Given the description of an element on the screen output the (x, y) to click on. 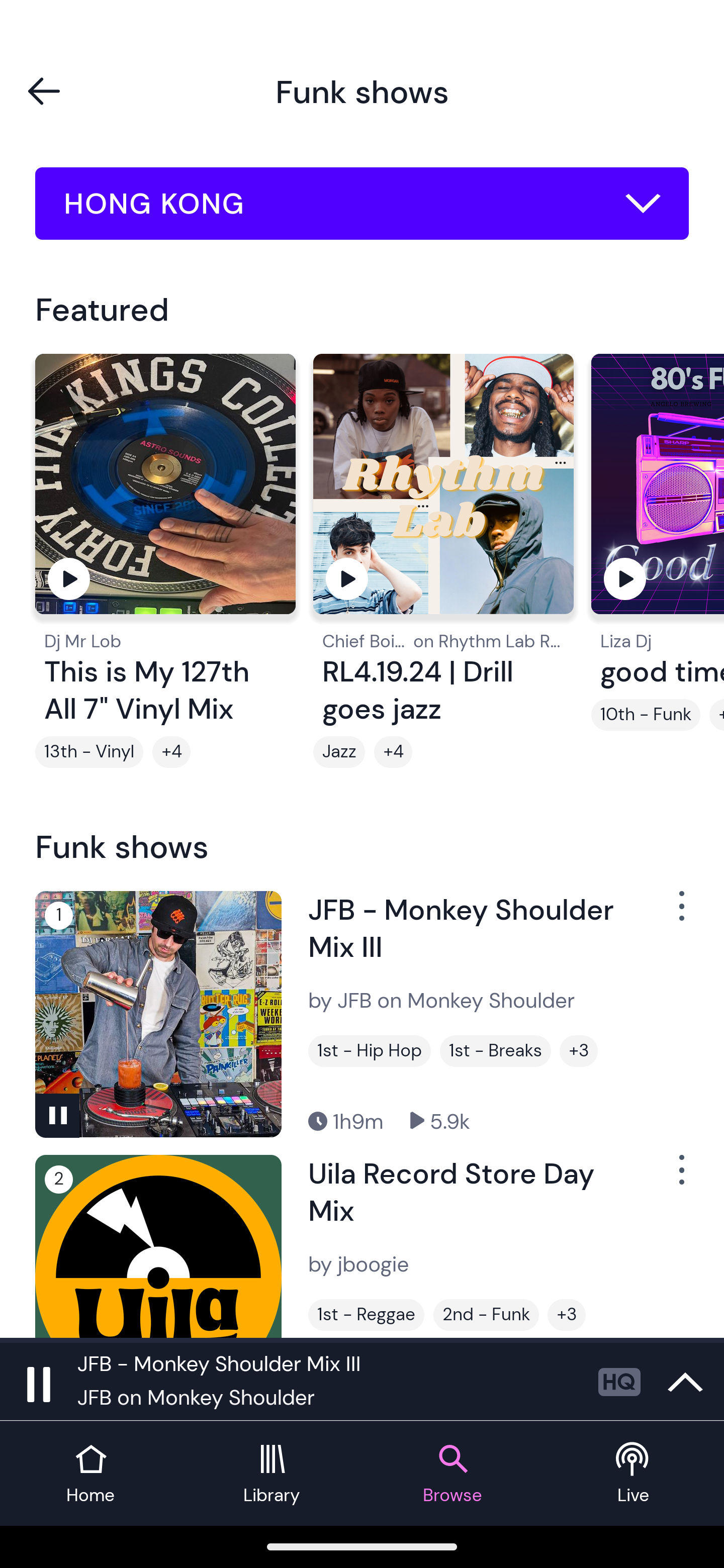
HONG KONG (361, 203)
10th - Funk (645, 714)
13th - Vinyl (89, 752)
Jazz (338, 752)
Show Options Menu Button (679, 913)
1st - Hip Hop (369, 1050)
1st - Breaks (495, 1050)
Show Options Menu Button (679, 1178)
1st - Reggae (366, 1315)
2nd - Funk (485, 1315)
Home tab Home (90, 1473)
Library tab Library (271, 1473)
Browse tab Browse (452, 1473)
Live tab Live (633, 1473)
